Given the description of an element on the screen output the (x, y) to click on. 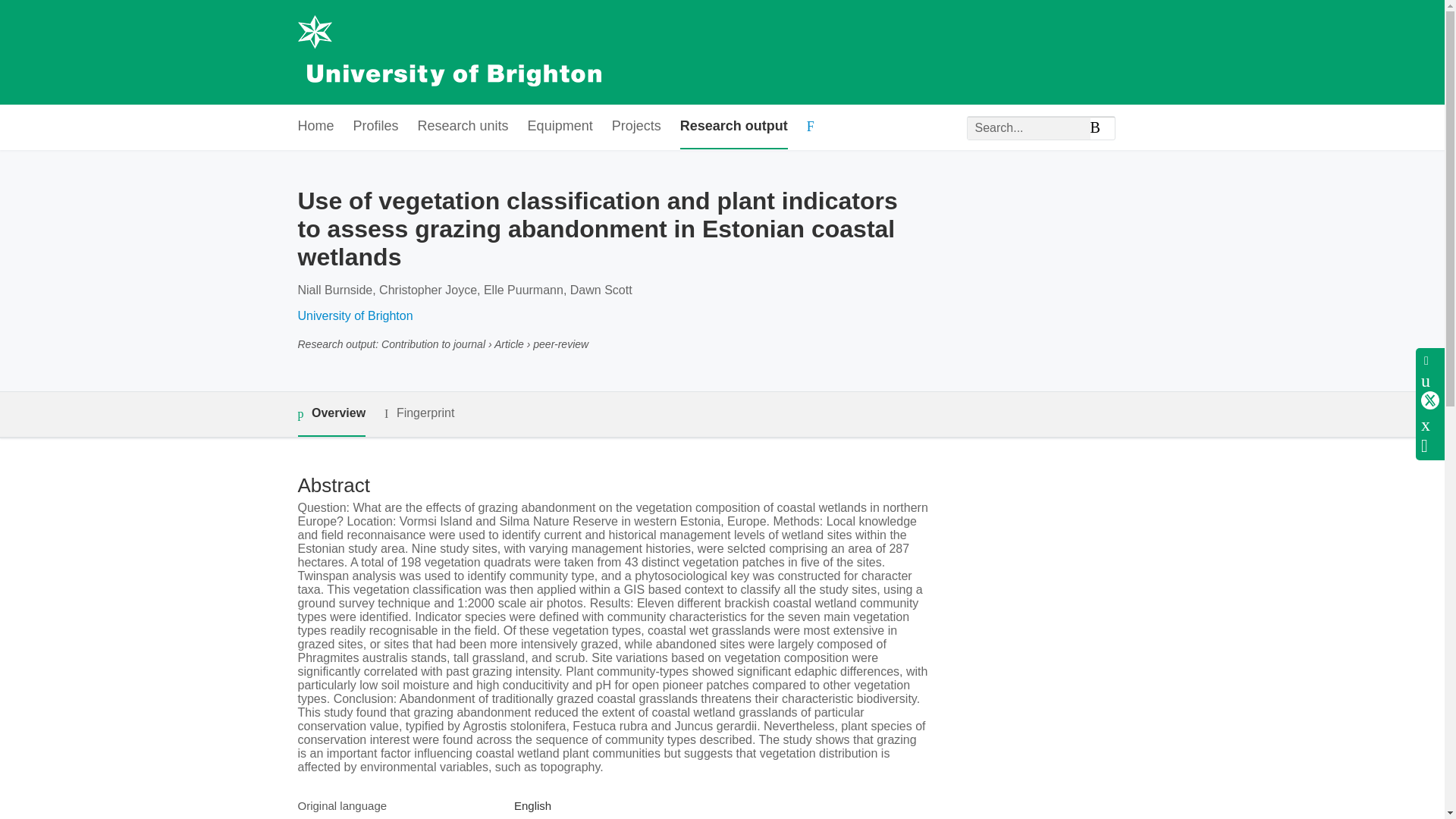
Research units (462, 126)
Fingerprint (419, 413)
Profiles (375, 126)
The University of Brighton Home (448, 52)
Projects (636, 126)
University of Brighton (354, 315)
Research output (733, 126)
Equipment (559, 126)
Overview (331, 414)
